Given the description of an element on the screen output the (x, y) to click on. 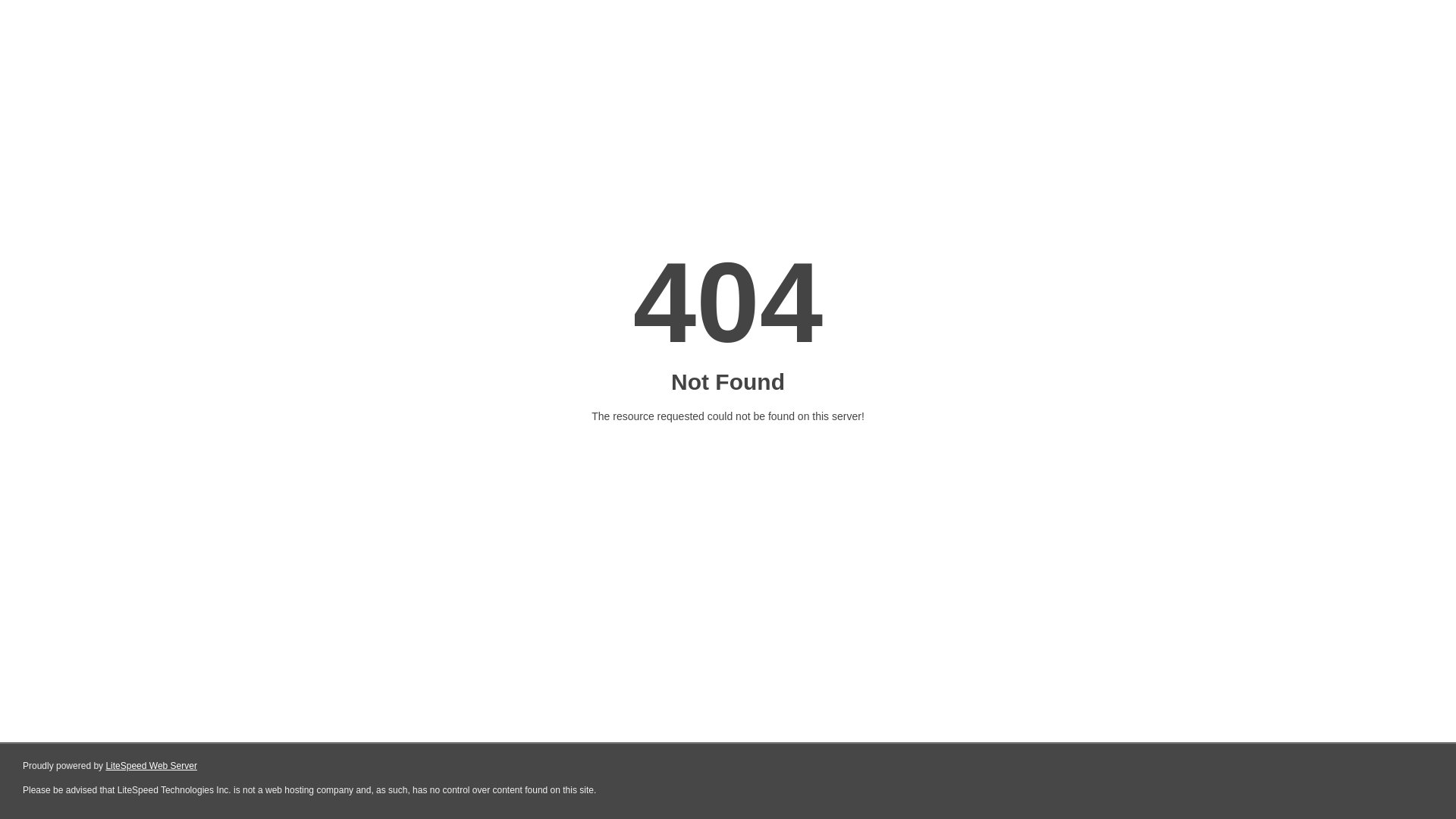
LiteSpeed Web Server Element type: text (151, 765)
